Given the description of an element on the screen output the (x, y) to click on. 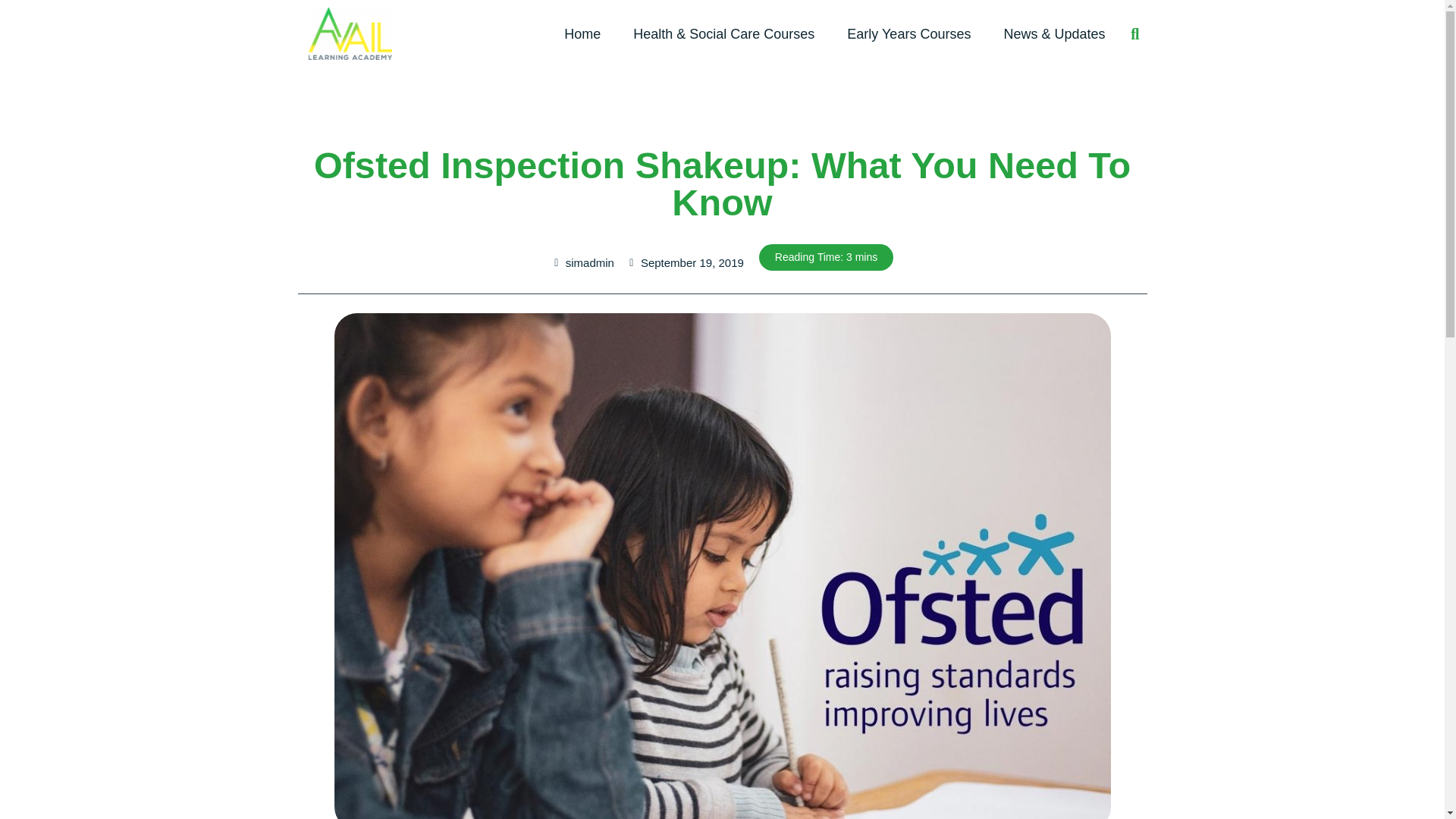
Home (582, 33)
AVAIL FINAL logo (349, 33)
Early Years Courses (908, 33)
